Given the description of an element on the screen output the (x, y) to click on. 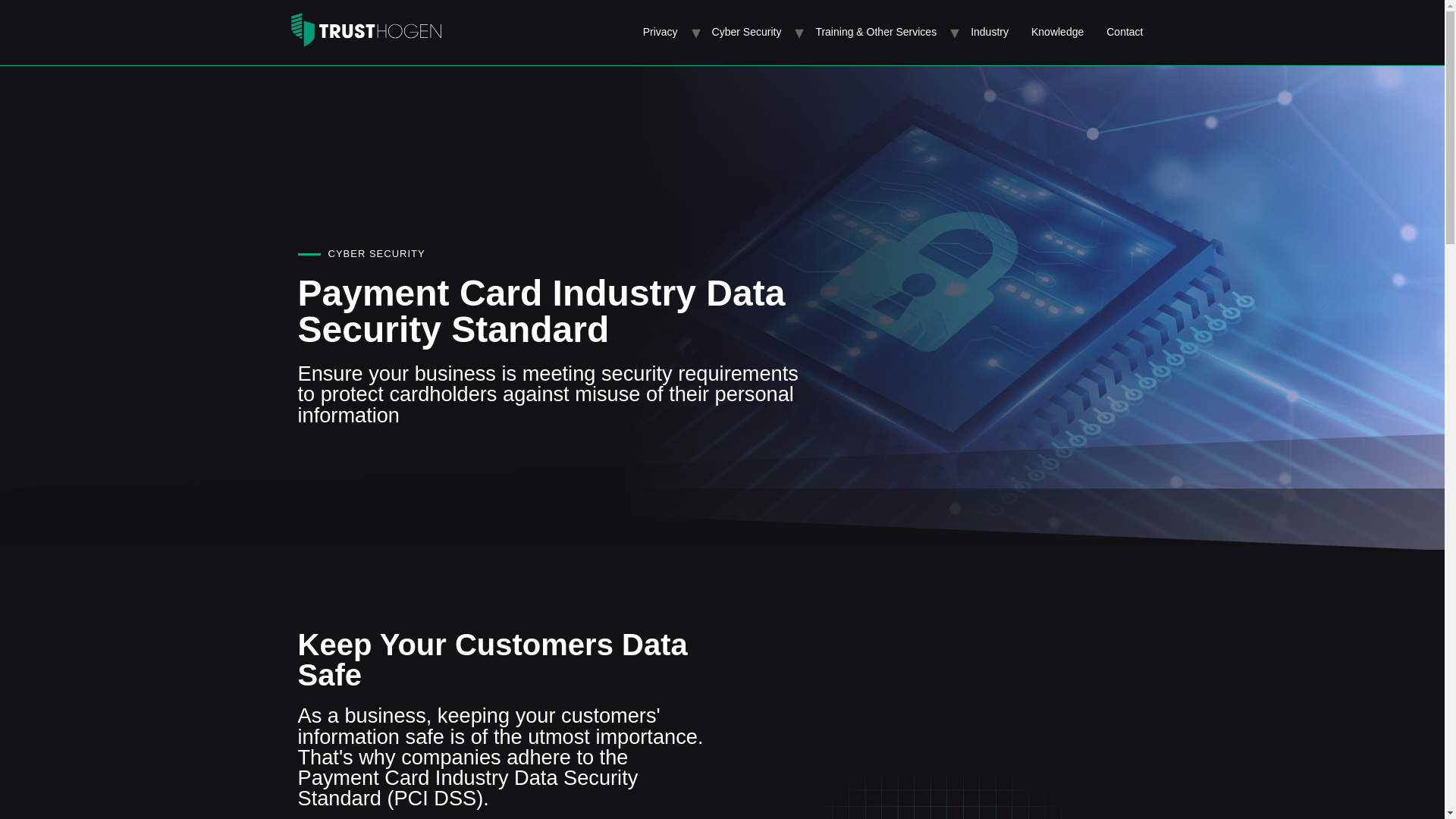
Industry (989, 31)
Data Protection as a Service (106, 89)
Knowledge (1057, 31)
Privacy (659, 31)
Cyber Security (746, 31)
Contact (1124, 31)
